Given the description of an element on the screen output the (x, y) to click on. 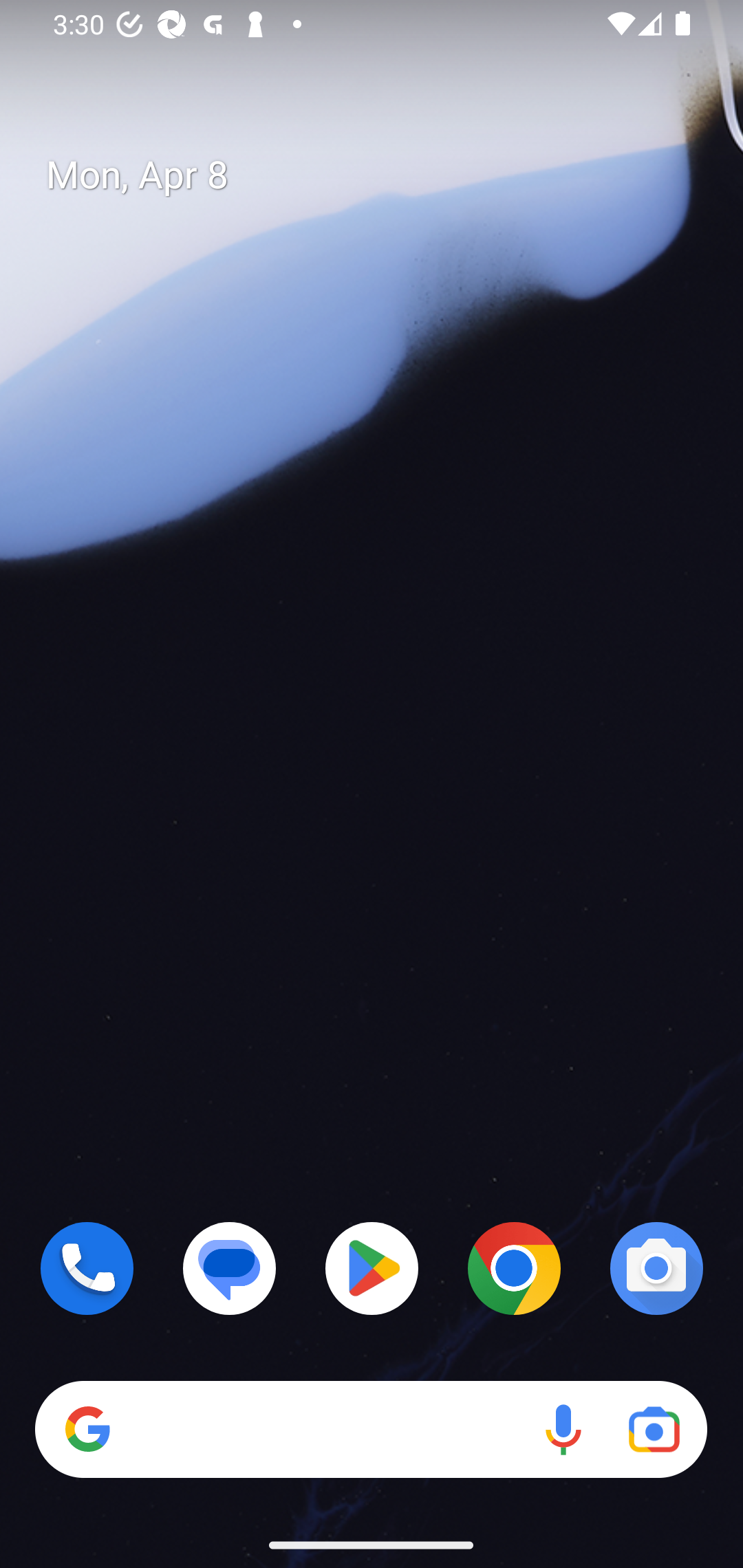
Mon, Apr 8 (386, 175)
Phone (86, 1268)
Messages (229, 1268)
Play Store (371, 1268)
Chrome (513, 1268)
Camera (656, 1268)
Search Voice search Google Lens (370, 1429)
Voice search (562, 1429)
Google Lens (653, 1429)
